Given the description of an element on the screen output the (x, y) to click on. 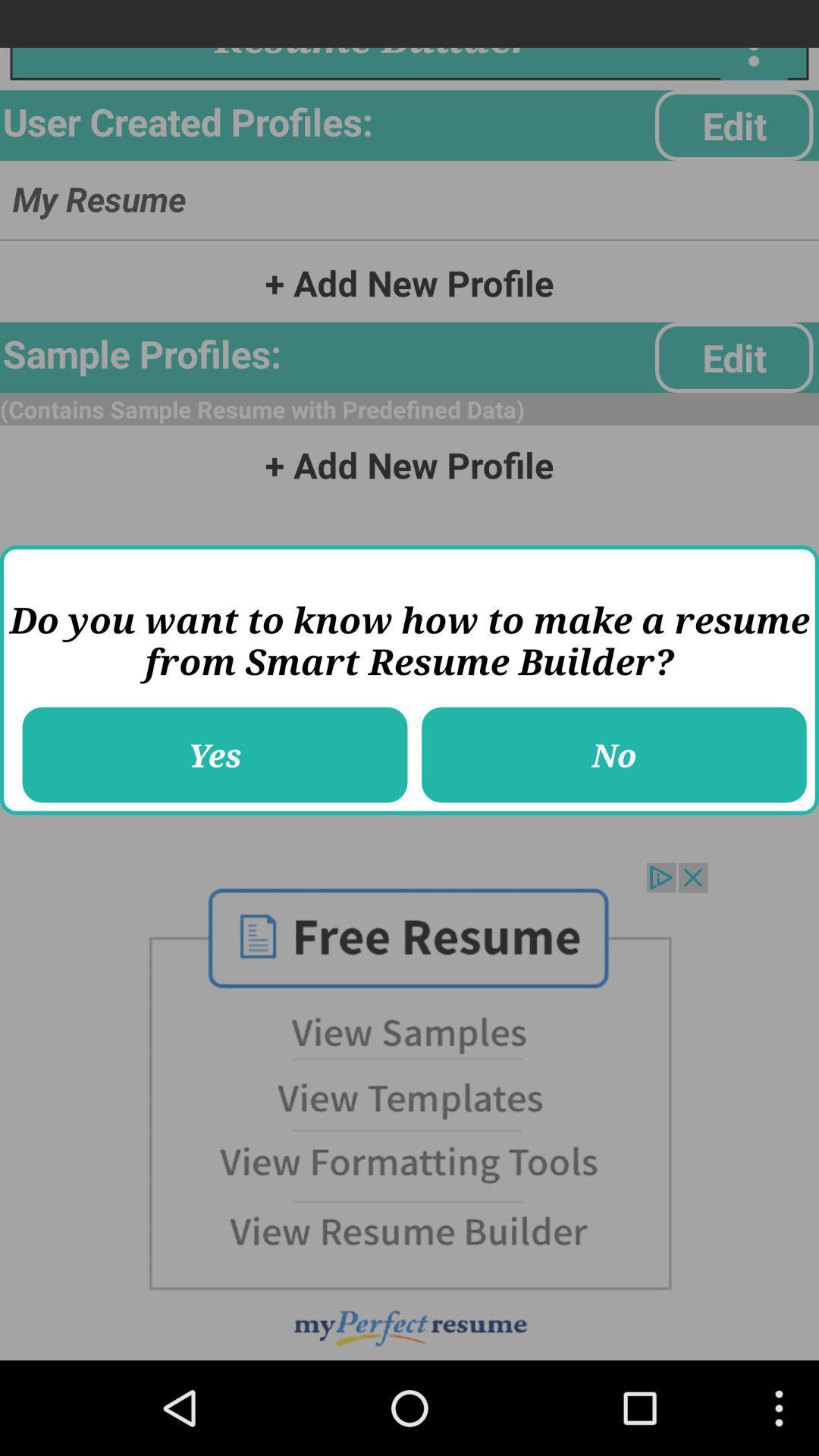
open icon next to no icon (214, 754)
